Given the description of an element on the screen output the (x, y) to click on. 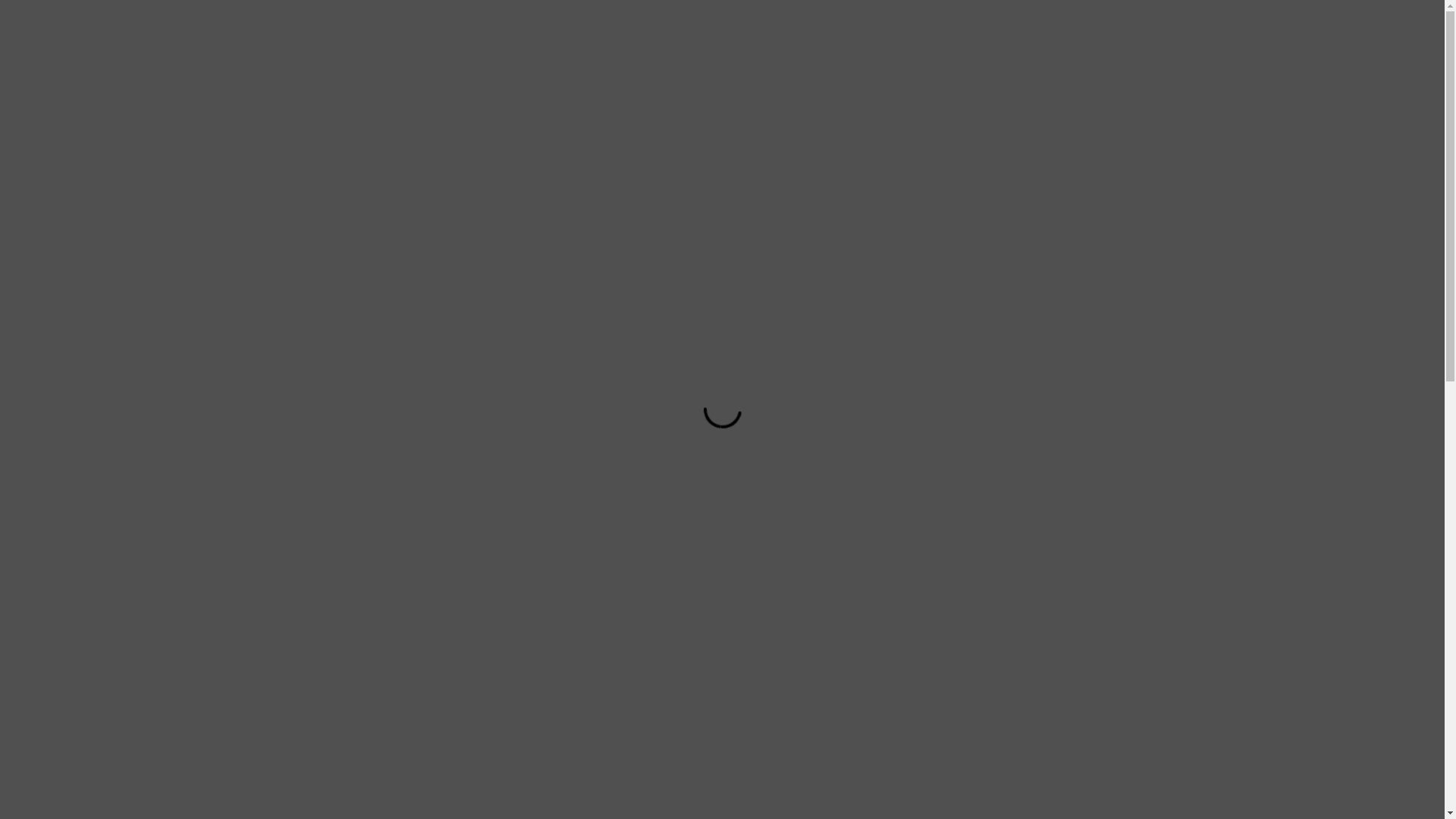
your dashboard Element type: text (257, 213)
